Given the description of an element on the screen output the (x, y) to click on. 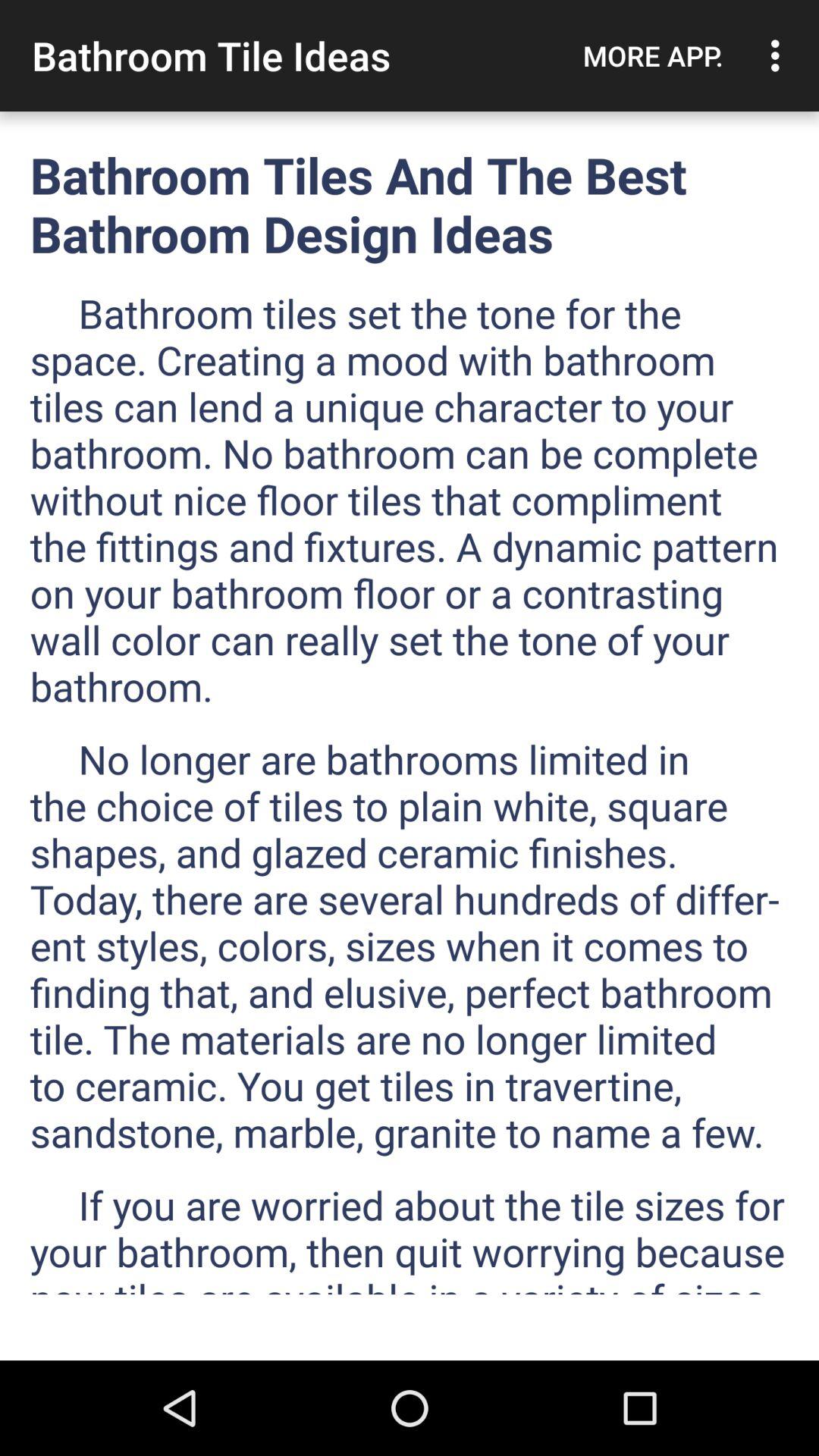
press more app. item (653, 55)
